Given the description of an element on the screen output the (x, y) to click on. 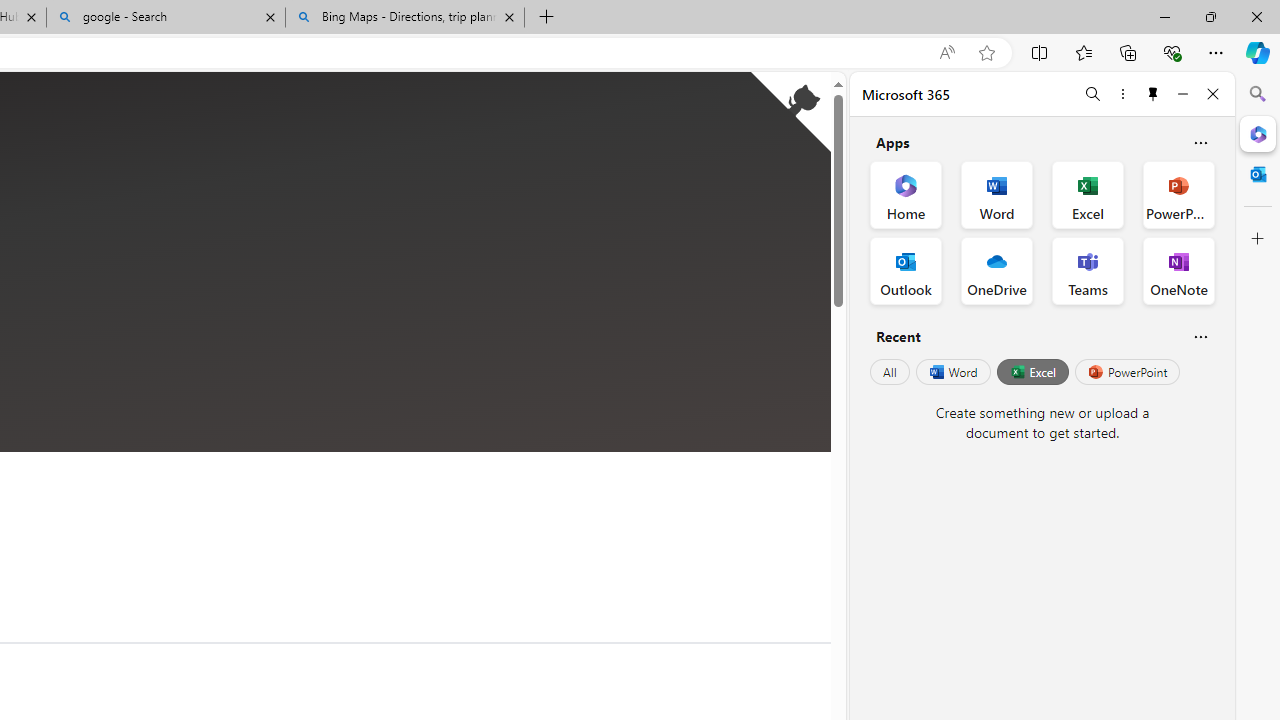
Word (952, 372)
OneNote Office App (1178, 270)
All (890, 372)
Open GitHub project (790, 111)
OneDrive Office App (996, 270)
